Given the description of an element on the screen output the (x, y) to click on. 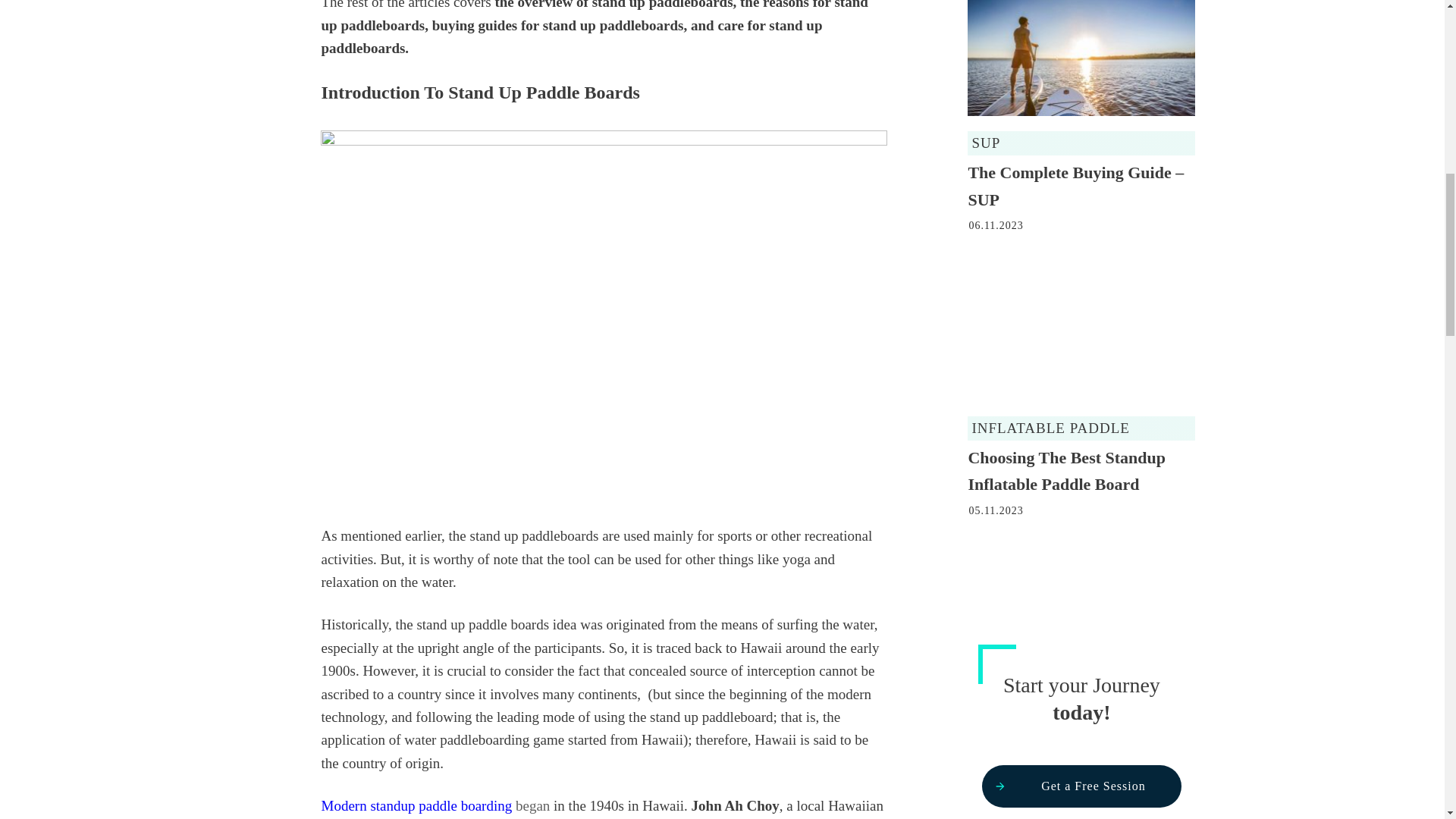
interception (780, 670)
yoga (796, 559)
INFLATABLE PADDLE (1050, 427)
Choosing The Best Standup Inflatable Paddle Board (1067, 470)
Get a Free Session (1080, 785)
Choosing the Best Standup Inflatable Paddle Board (1067, 470)
Inflatable Paddle (1050, 427)
SUP (985, 142)
SUP (985, 142)
